Given the description of an element on the screen output the (x, y) to click on. 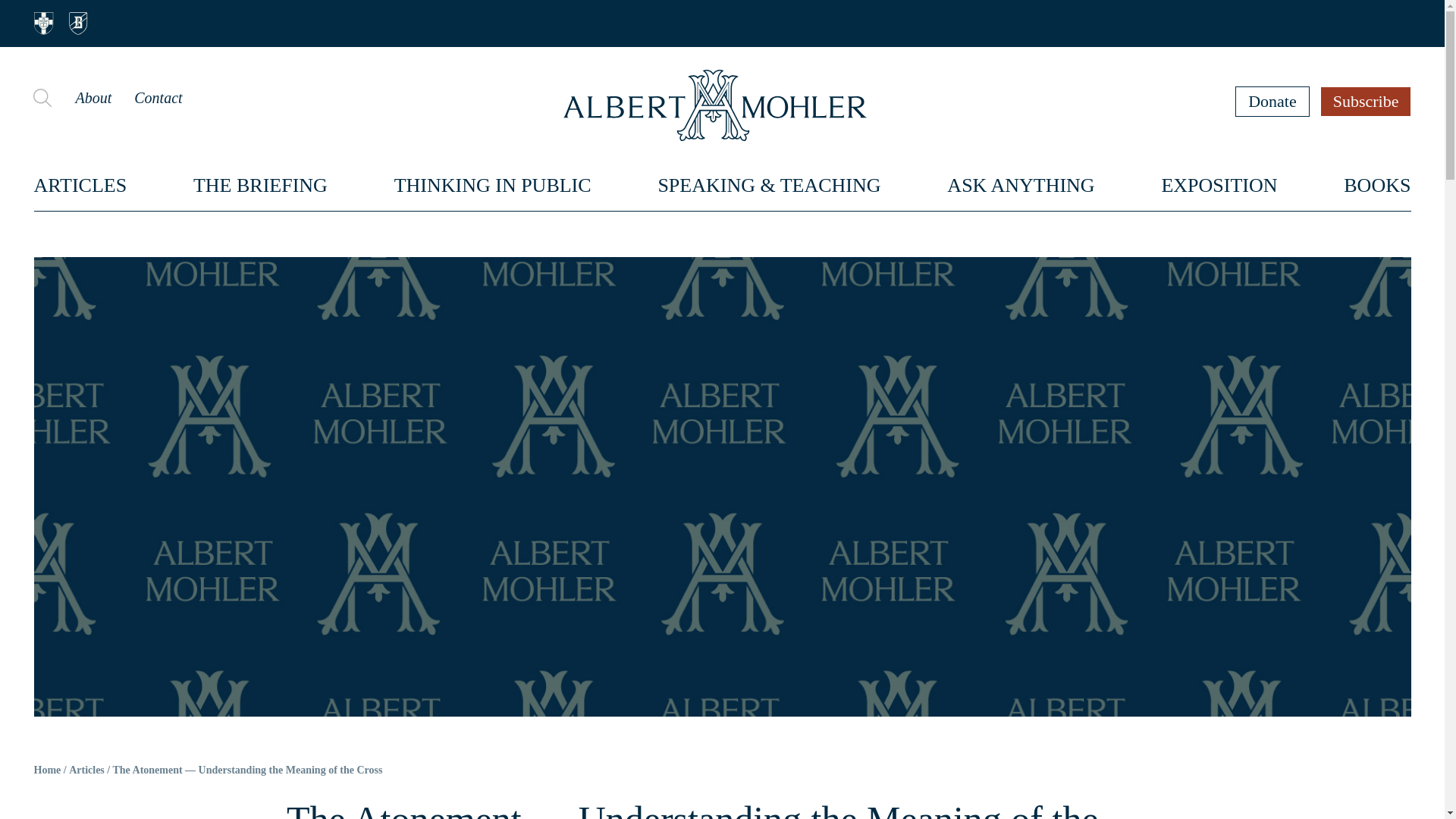
Articles (86, 770)
EXPOSITION (1218, 185)
THINKING IN PUBLIC (492, 185)
BOOKS (1376, 185)
Donate (1272, 101)
Subscribe (1366, 101)
ASK ANYTHING (1020, 185)
ARTICLES (79, 185)
About (93, 97)
Contact (157, 97)
Home (47, 770)
THE BRIEFING (260, 185)
